Given the description of an element on the screen output the (x, y) to click on. 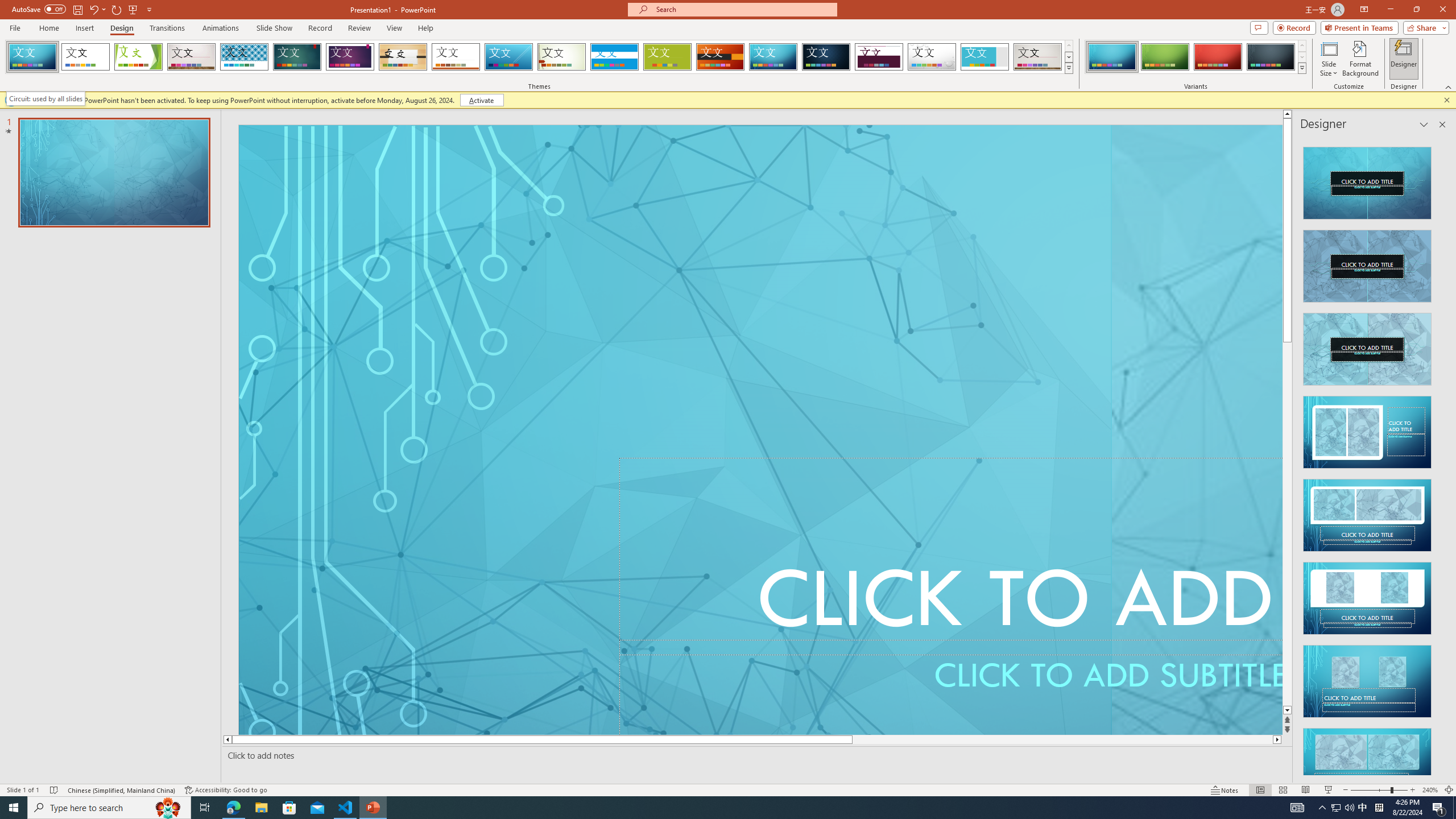
Ion Boardroom (350, 56)
Recommended Design: Design Idea (1366, 179)
Class: NetUIScrollBar (1441, 456)
Circuit Variant 4 (1270, 56)
Activate (481, 100)
Close this message (1446, 99)
